Given the description of an element on the screen output the (x, y) to click on. 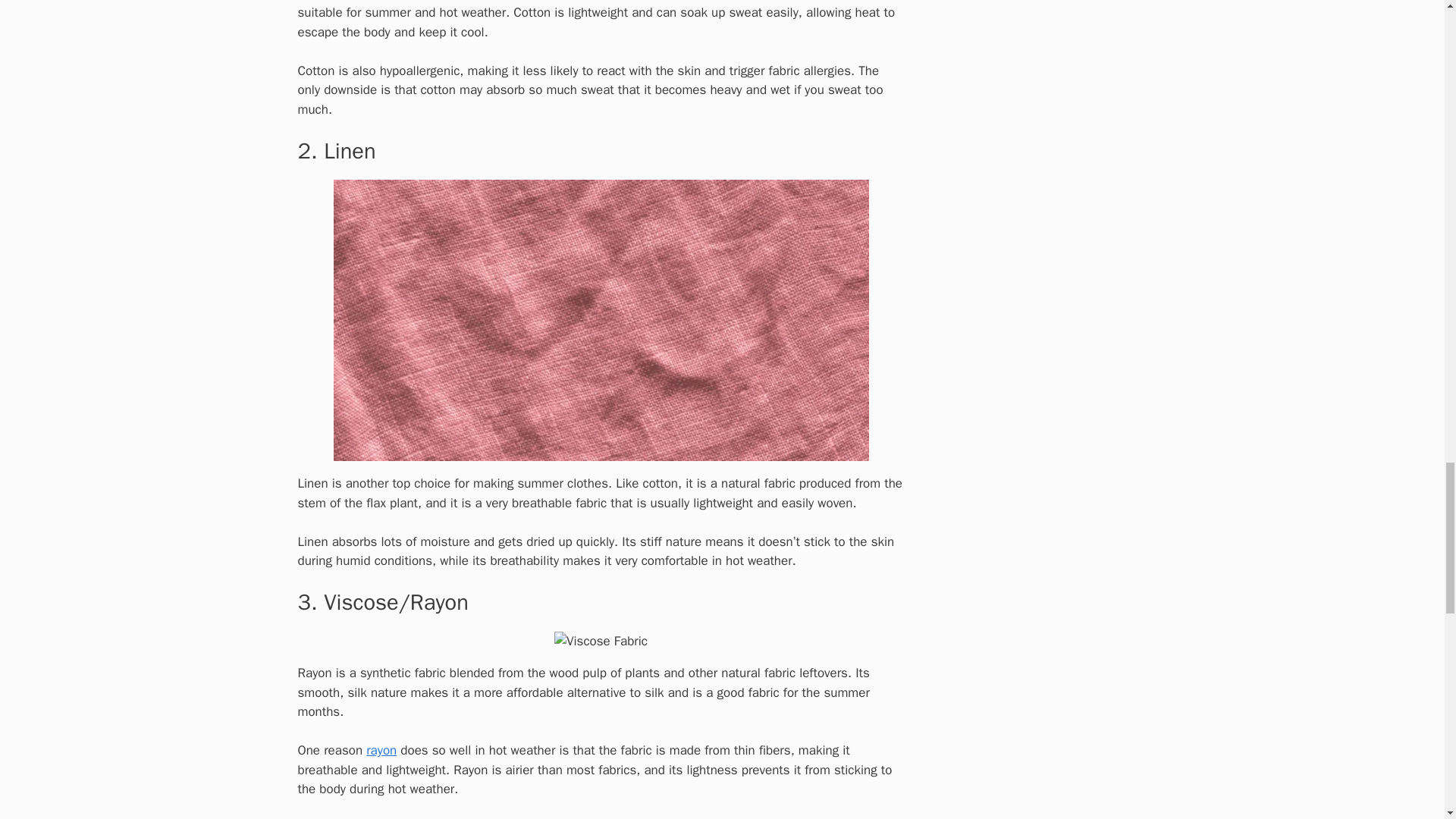
rayon (381, 750)
